Given the description of an element on the screen output the (x, y) to click on. 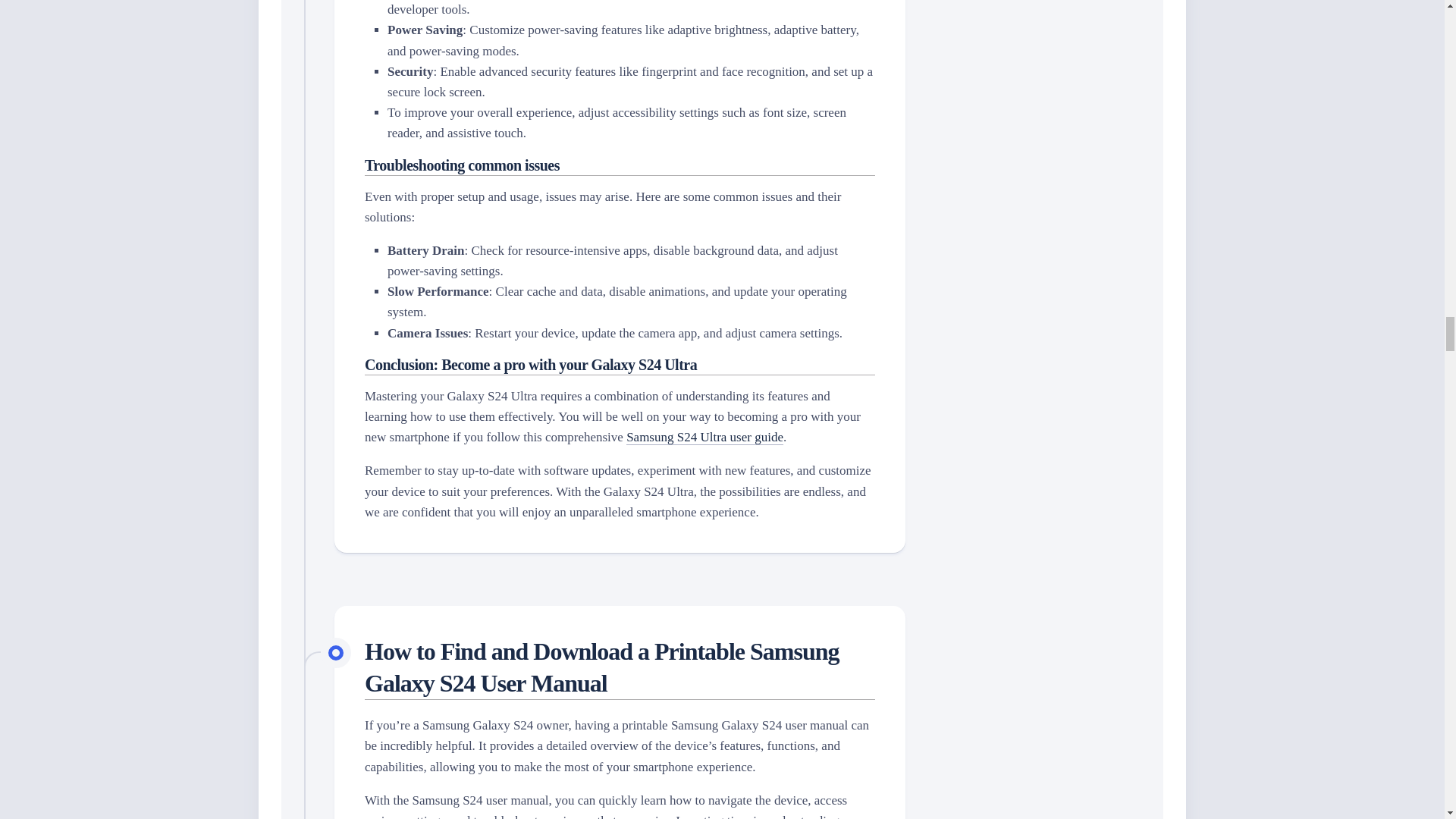
Samsung S24 Ultra user guide (704, 436)
